Given the description of an element on the screen output the (x, y) to click on. 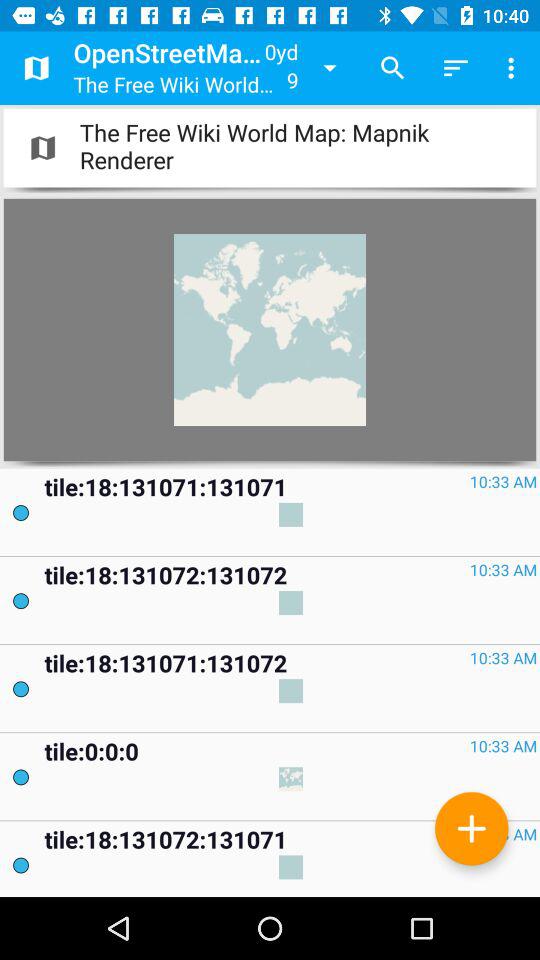
add new map item (471, 828)
